Given the description of an element on the screen output the (x, y) to click on. 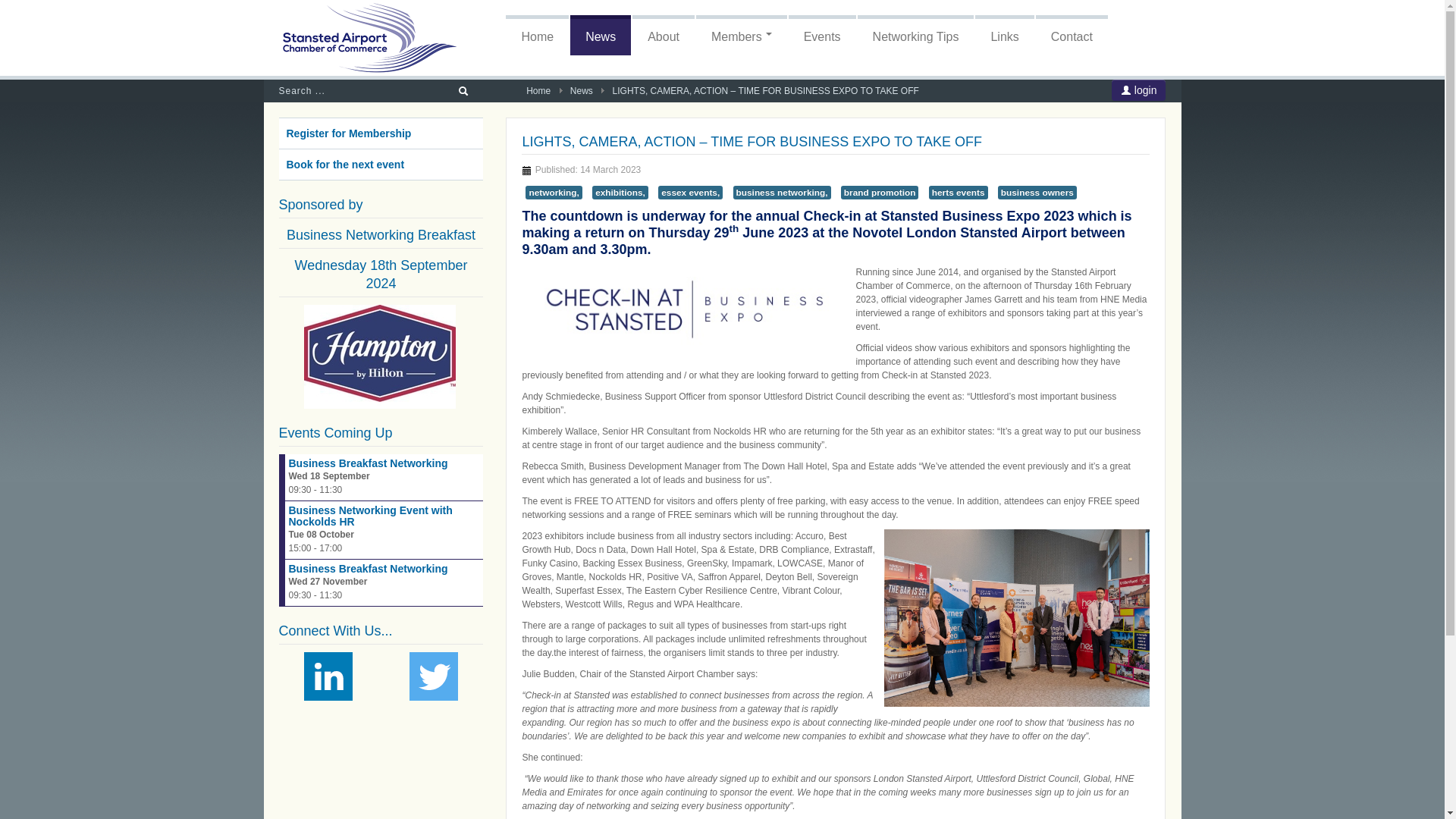
Networking Tips (915, 35)
Stansted Airport Chamber of Commerce (370, 38)
Register for Membership (381, 133)
Search ... (360, 90)
Business Breakfast Networking (367, 568)
About (662, 35)
Members (741, 35)
login (1139, 89)
Links (1004, 35)
Business Networking Event with Nockolds HR (369, 515)
Home (537, 90)
Business Breakfast Networking (367, 463)
business owners (1037, 192)
Events (822, 35)
Contact (1071, 35)
